Given the description of an element on the screen output the (x, y) to click on. 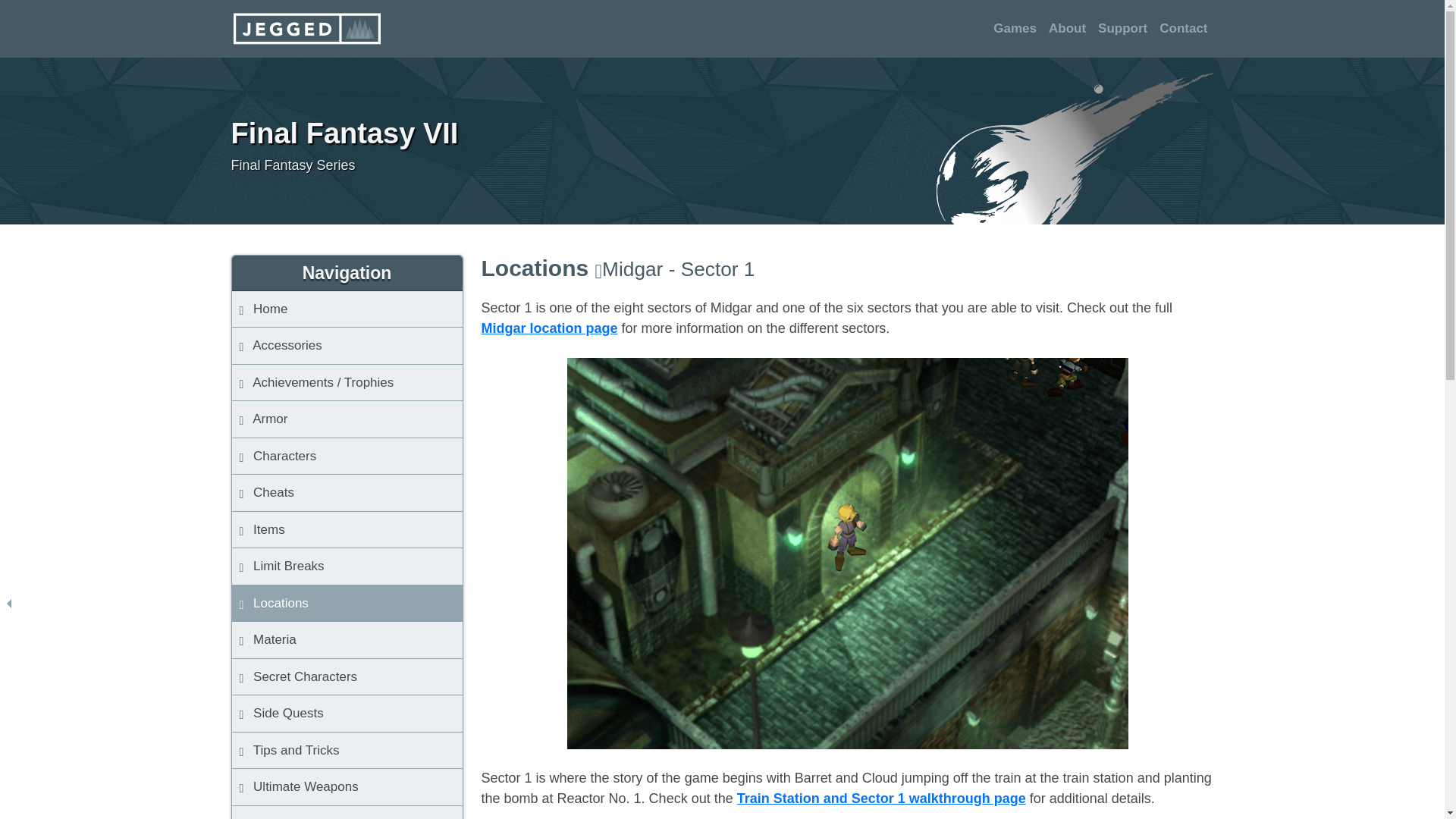
Cheats (347, 493)
Walkthrough (347, 812)
Characters (347, 456)
Home (347, 309)
Secret Characters (347, 677)
Ultimate Weapons (347, 787)
Materia (347, 640)
Side Quests (347, 713)
Train Station and Sector 1 walkthrough page (881, 798)
Locations (347, 603)
Final Fantasy Series (554, 166)
Items (347, 529)
Armor (347, 419)
About (1067, 29)
Games (1014, 29)
